Given the description of an element on the screen output the (x, y) to click on. 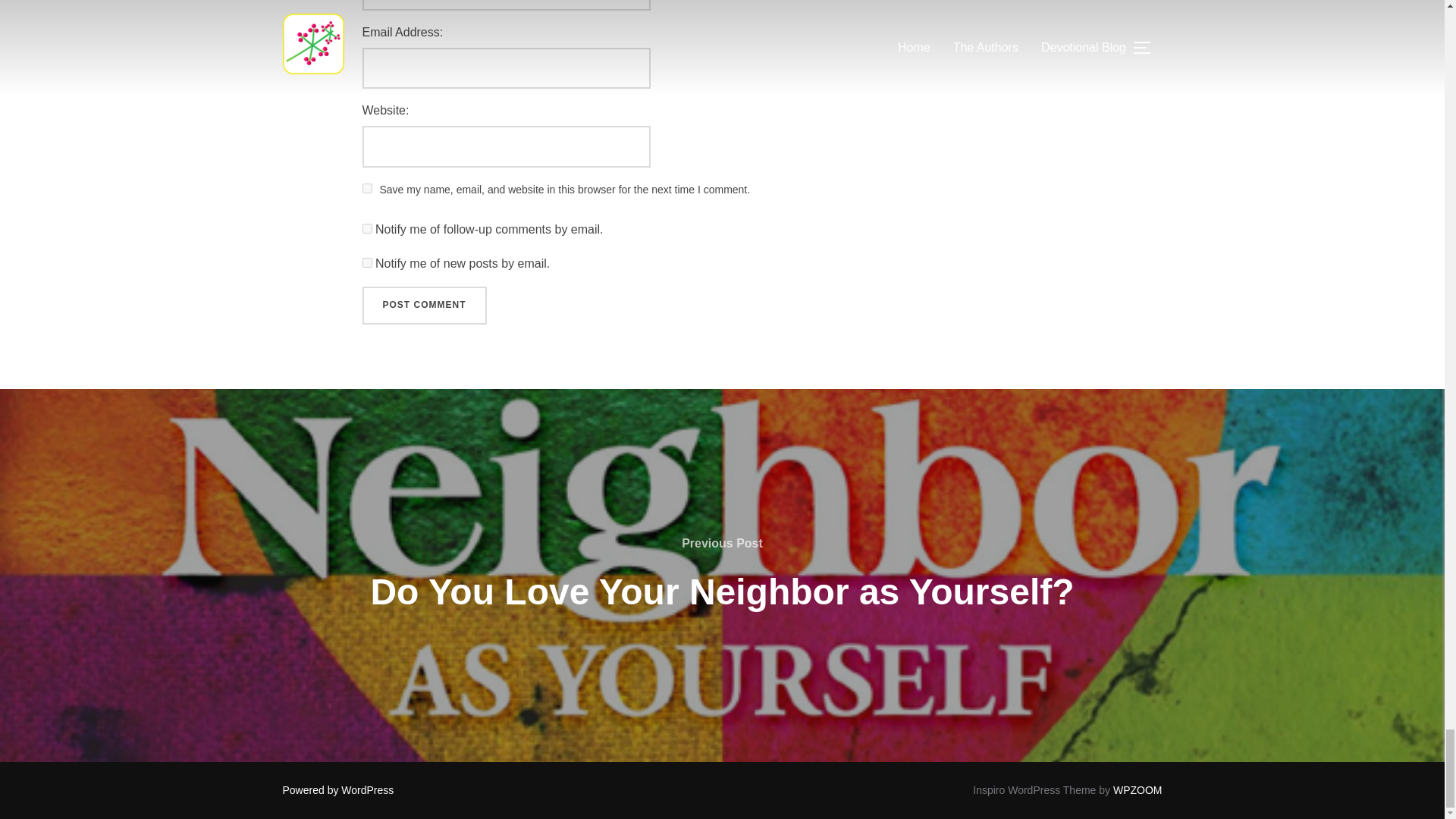
Powered by WordPress (337, 789)
subscribe (367, 228)
yes (367, 188)
Post Comment (424, 305)
Post Comment (424, 305)
WPZOOM (1137, 789)
subscribe (367, 262)
